Given the description of an element on the screen output the (x, y) to click on. 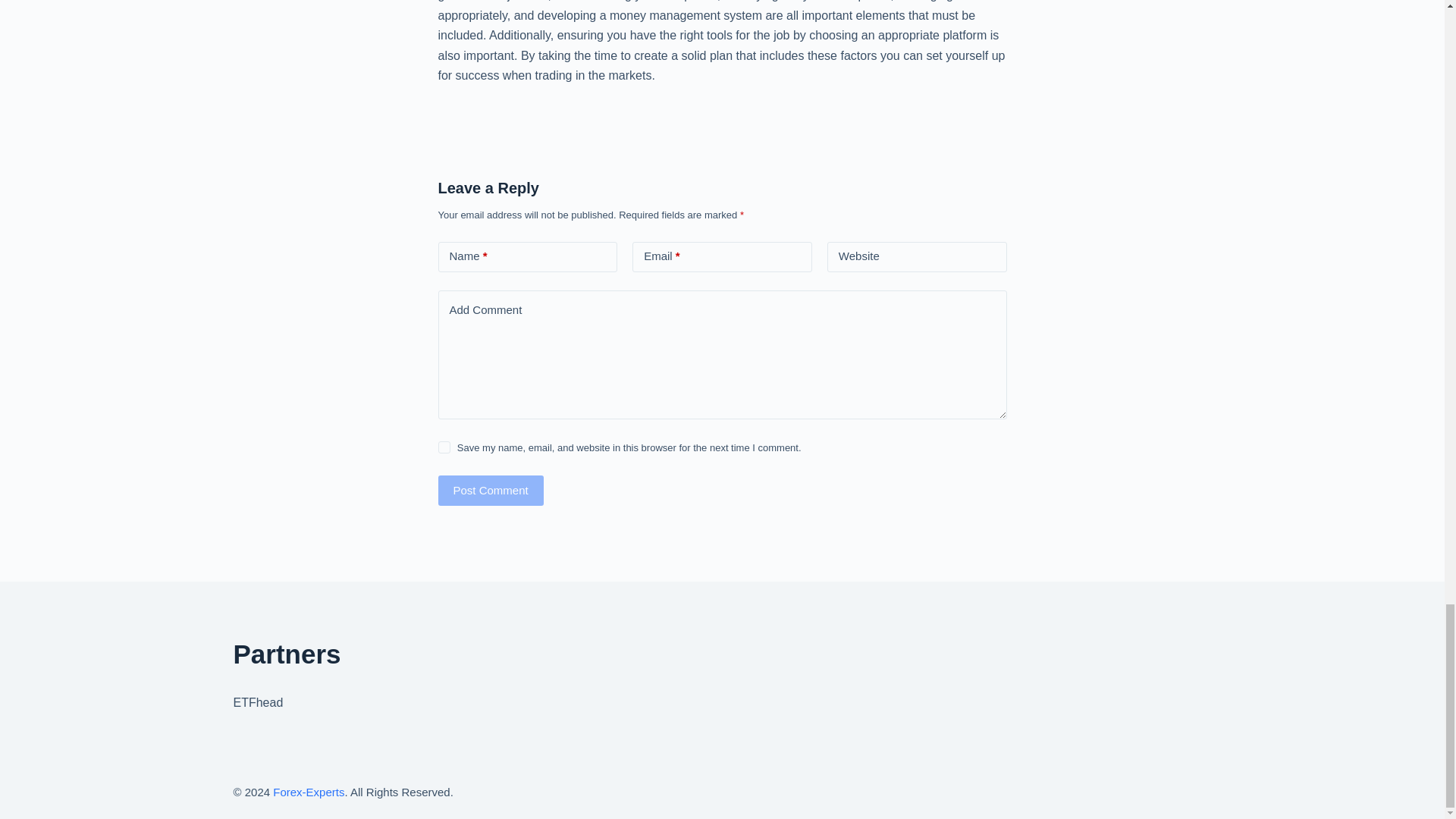
Post Comment (490, 490)
yes (443, 447)
Forex-Experts (308, 791)
ETFhead (257, 702)
